Given the description of an element on the screen output the (x, y) to click on. 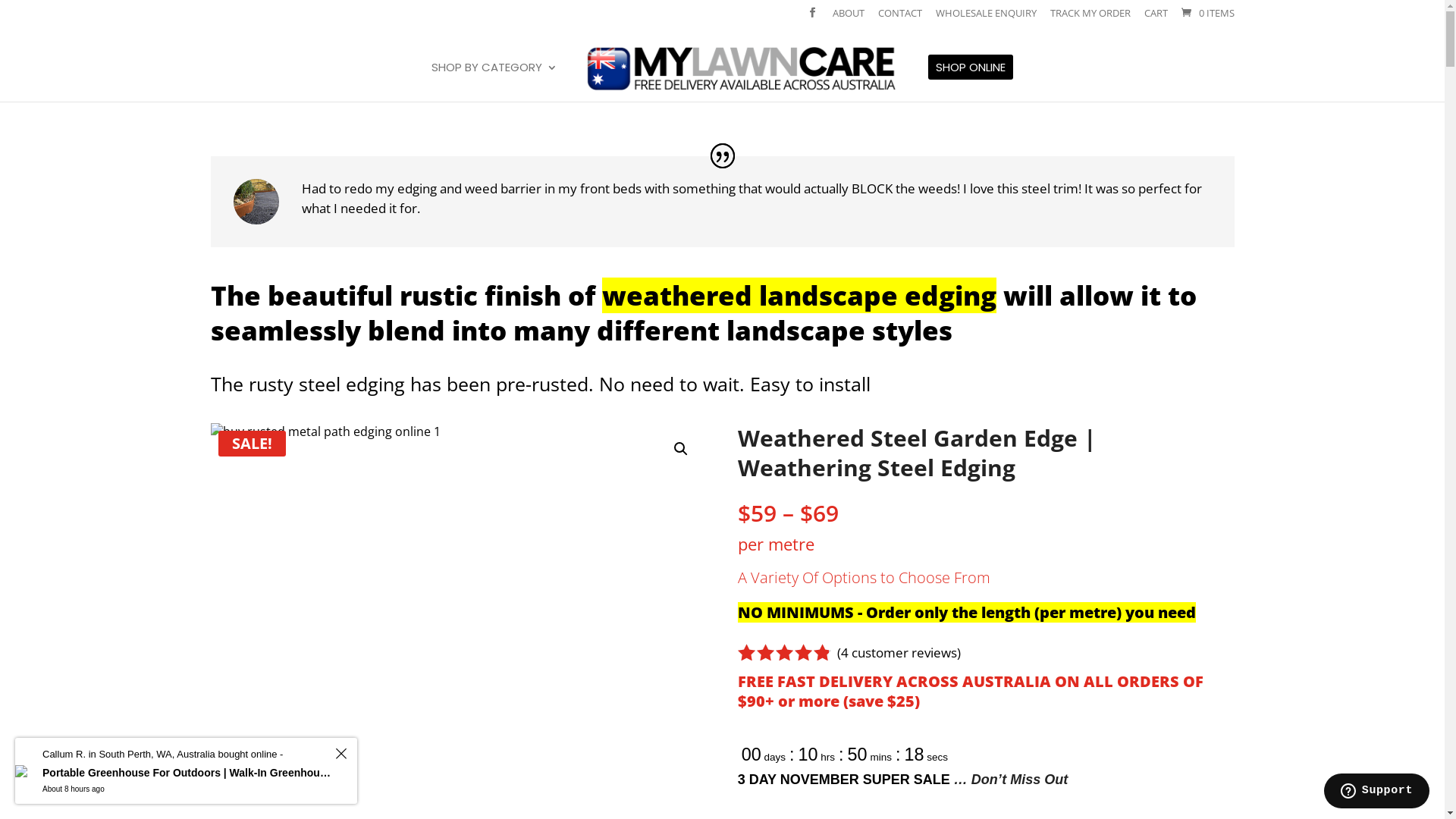
SHOP BY CATEGORY Element type: text (494, 81)
WHOLESALE ENQUIRY Element type: text (985, 16)
ABOUT Element type: text (848, 16)
(4 customer reviews) Element type: text (898, 652)
TRACK MY ORDER Element type: text (1089, 16)
0 ITEMS Element type: text (1205, 12)
CART Element type: text (1155, 16)
SHOP ONLINE Element type: text (970, 81)
CONTACT Element type: text (900, 16)
Opens a widget where you can find more information Element type: hover (1376, 792)
